Given the description of an element on the screen output the (x, y) to click on. 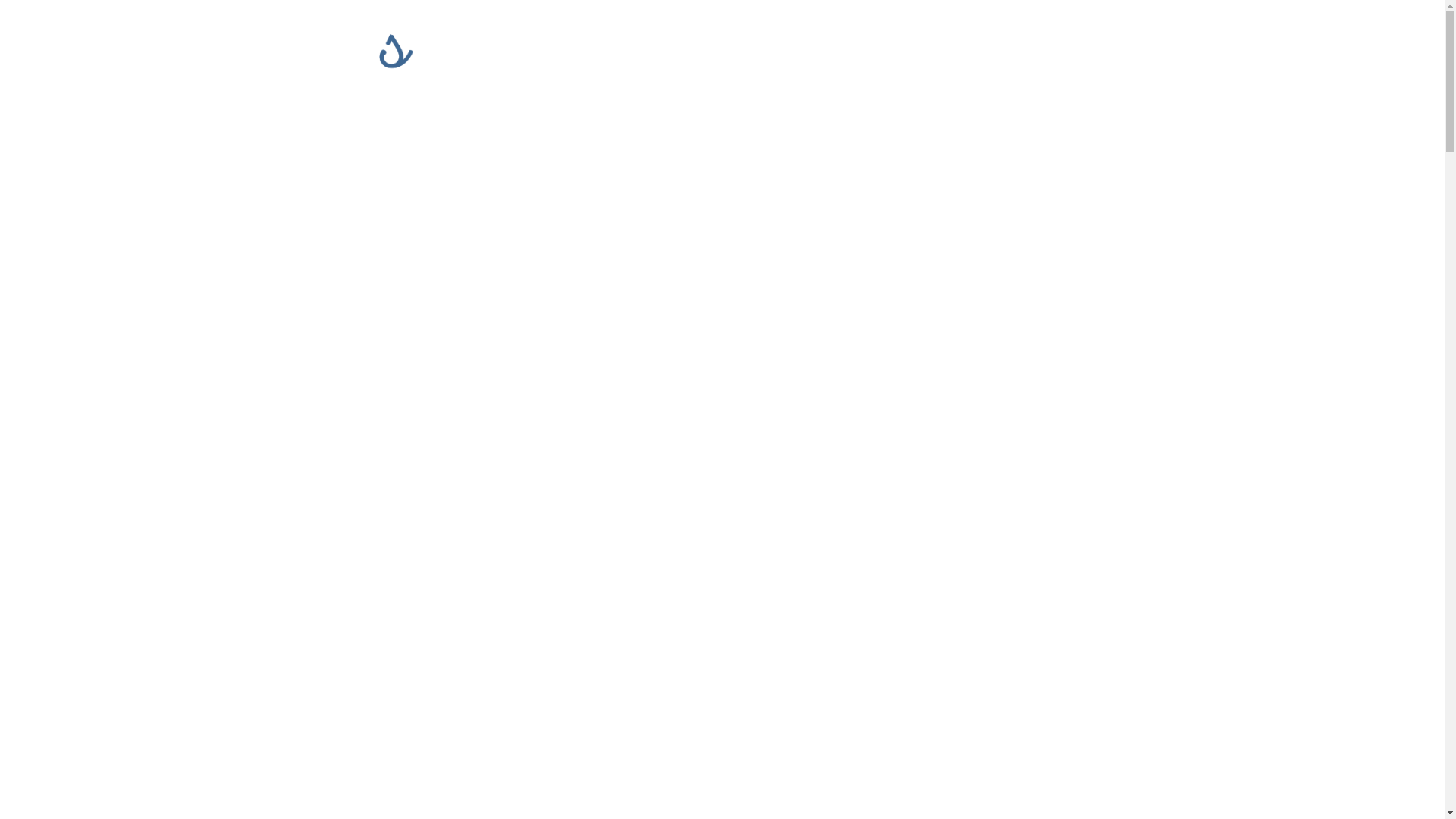
RESERVATION Element type: text (1084, 50)
BUREHOF Element type: text (816, 50)
